Given the description of an element on the screen output the (x, y) to click on. 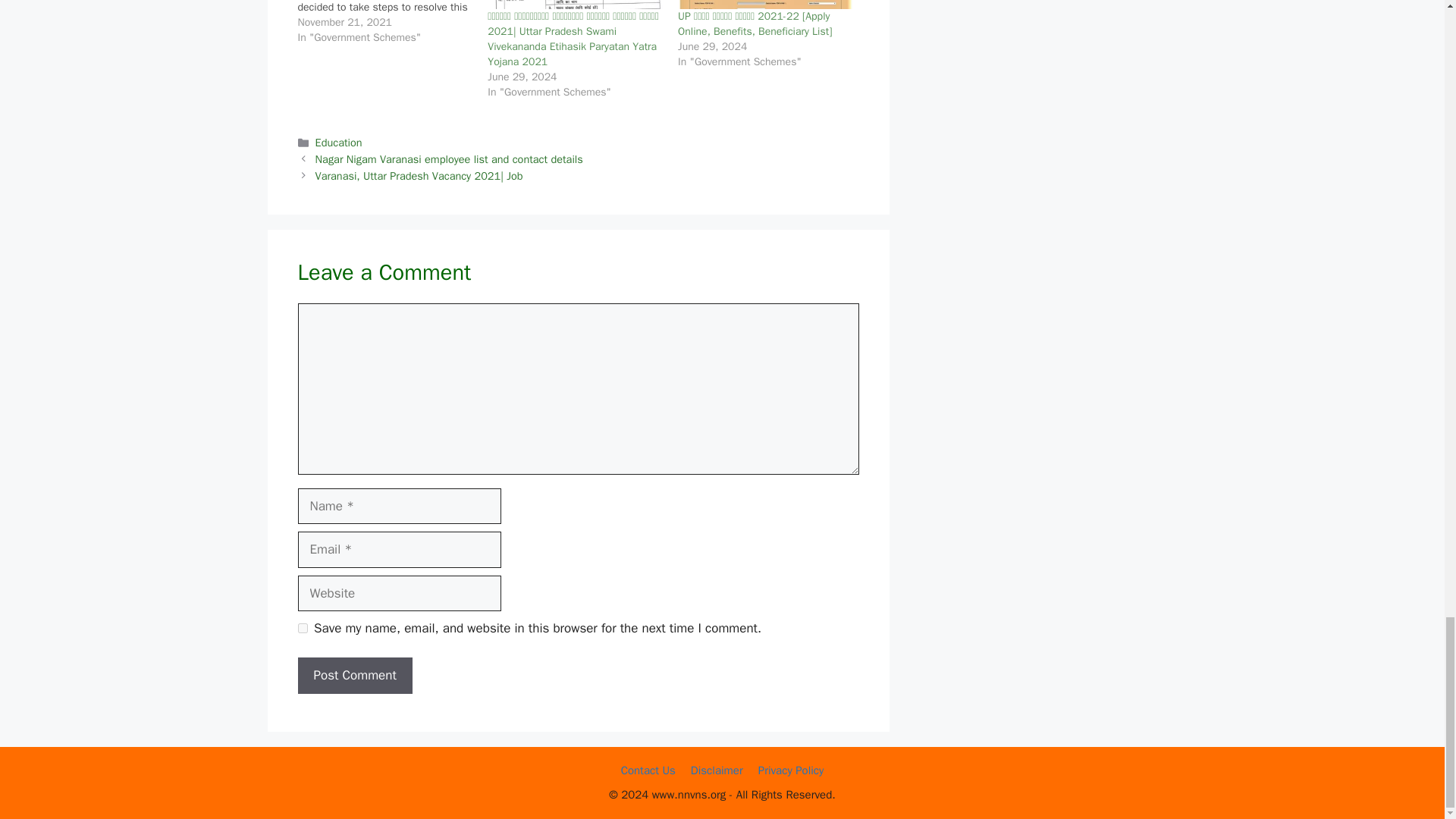
Education (338, 142)
Post Comment (354, 675)
Nagar Nigam Varanasi employee list and contact details (449, 159)
yes (302, 628)
